Given the description of an element on the screen output the (x, y) to click on. 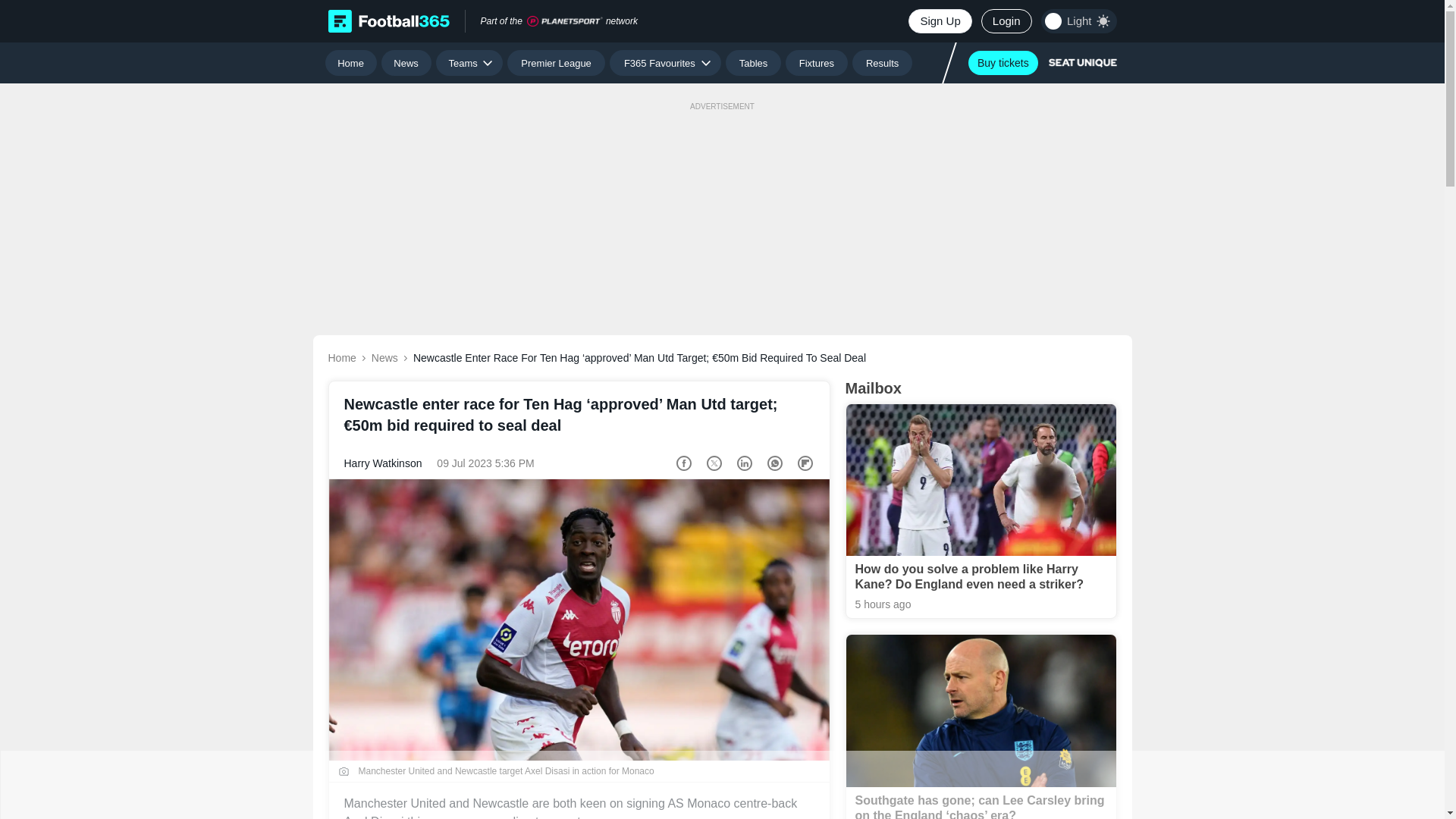
Home (349, 62)
News (405, 62)
Premier League (555, 62)
Teams (468, 62)
F365 Favourites (665, 62)
Results (881, 62)
3rd party ad content (721, 785)
Tables (752, 62)
Login (1006, 21)
Fixtures (817, 62)
Sign Up (939, 21)
